Given the description of an element on the screen output the (x, y) to click on. 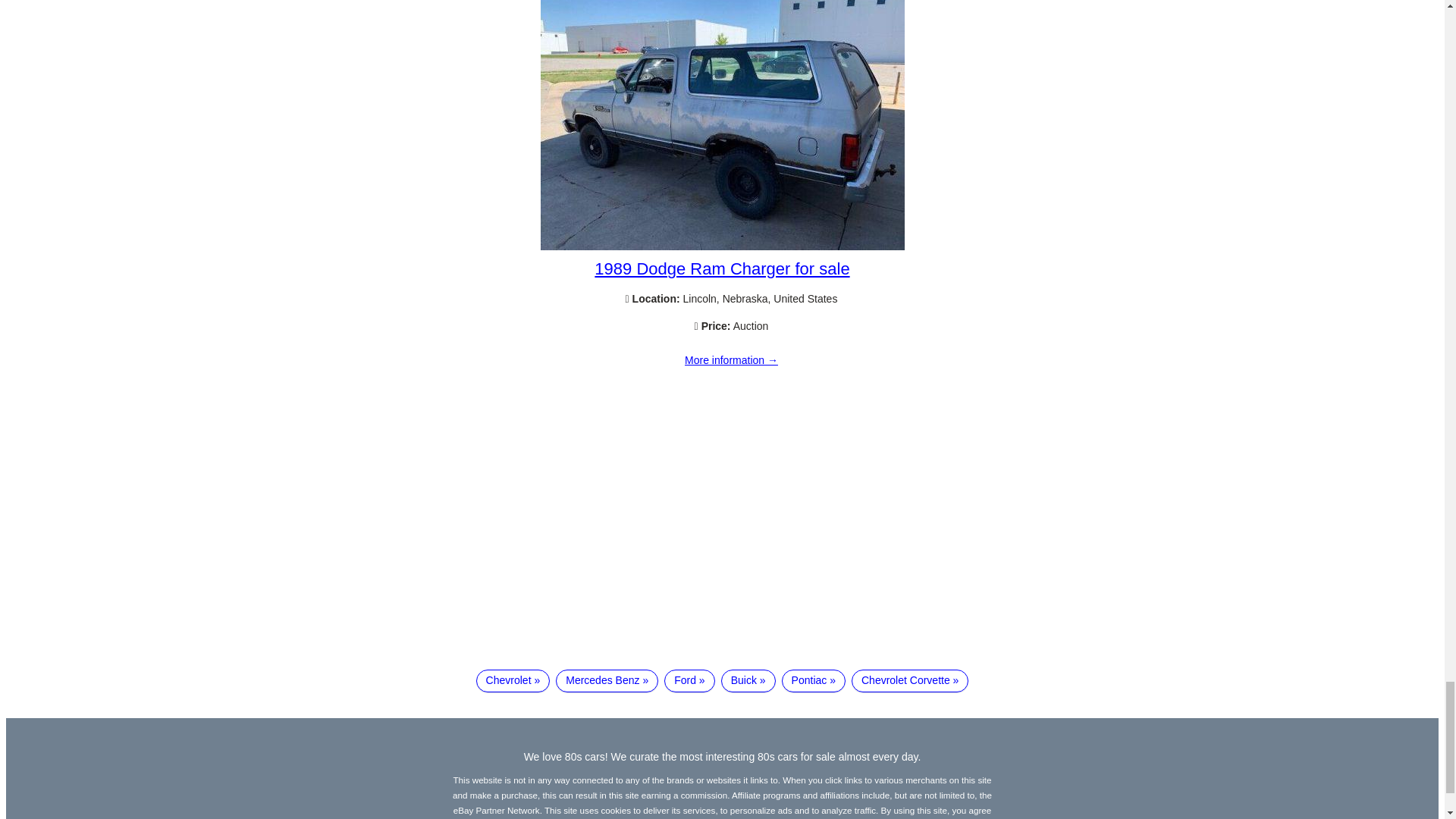
Mercedes Benz (607, 680)
Ford (688, 680)
Chevrolet (513, 680)
1989 Dodge Ram Charger for sale (731, 360)
Buick (748, 680)
1989 Dodge Ram Charger for sale (721, 268)
1989 Dodge Ram Charger for sale (722, 246)
Chevrolet Corvette (909, 680)
Pontiac (813, 680)
